Given the description of an element on the screen output the (x, y) to click on. 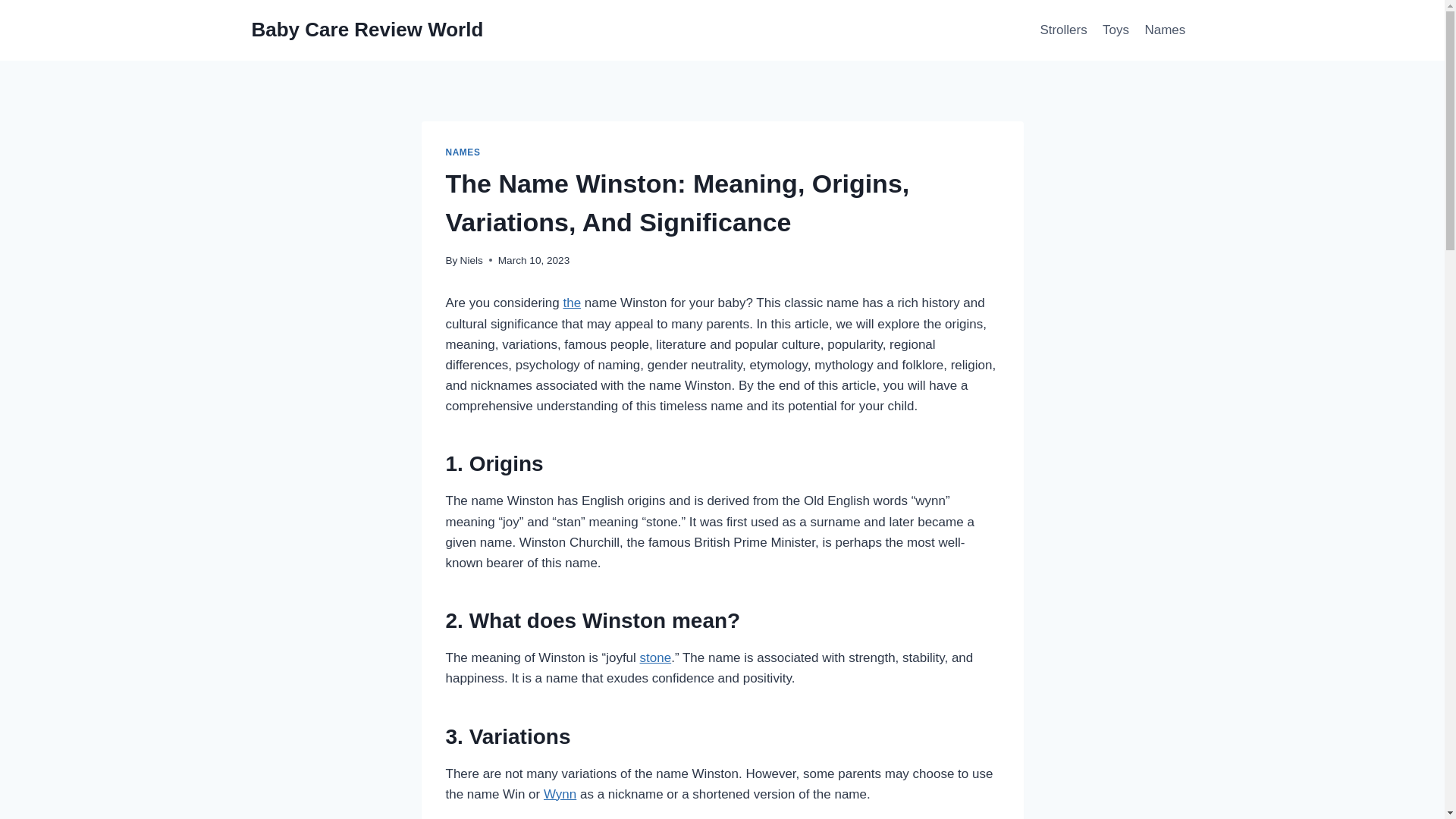
Names (1164, 30)
Niels (471, 260)
NAMES (462, 152)
Wynn (559, 794)
stone (655, 657)
Strollers (1063, 30)
Toys (1115, 30)
Baby Care Review World (367, 29)
the (571, 302)
